Given the description of an element on the screen output the (x, y) to click on. 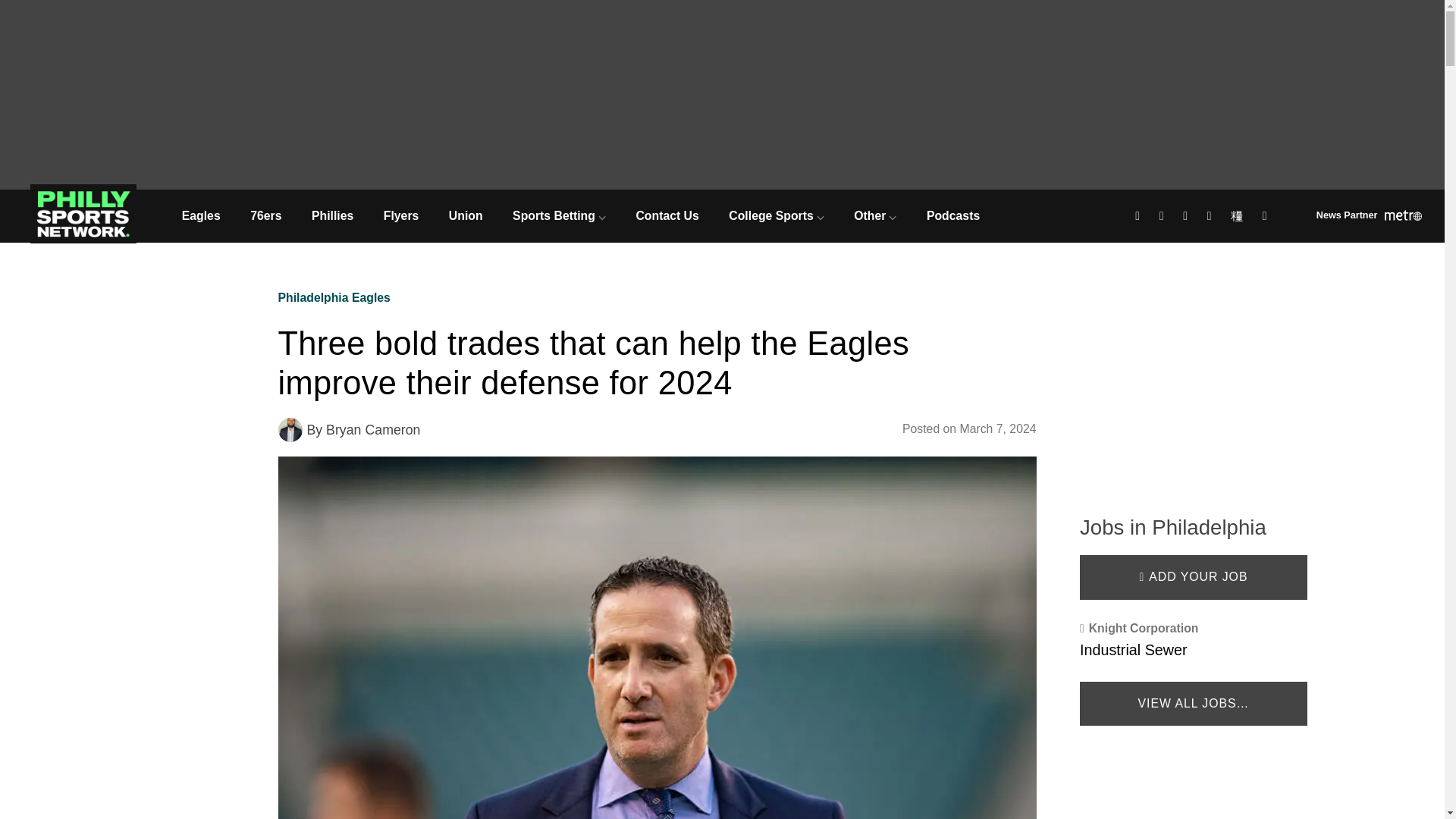
News Partner (1369, 216)
Flyers (400, 215)
Contact Us (667, 215)
Phillies (332, 215)
76ers (265, 215)
Other (876, 215)
Sports Betting (558, 215)
Eagles (200, 215)
College Sports (777, 215)
Union (465, 215)
Podcasts (952, 215)
